Given the description of an element on the screen output the (x, y) to click on. 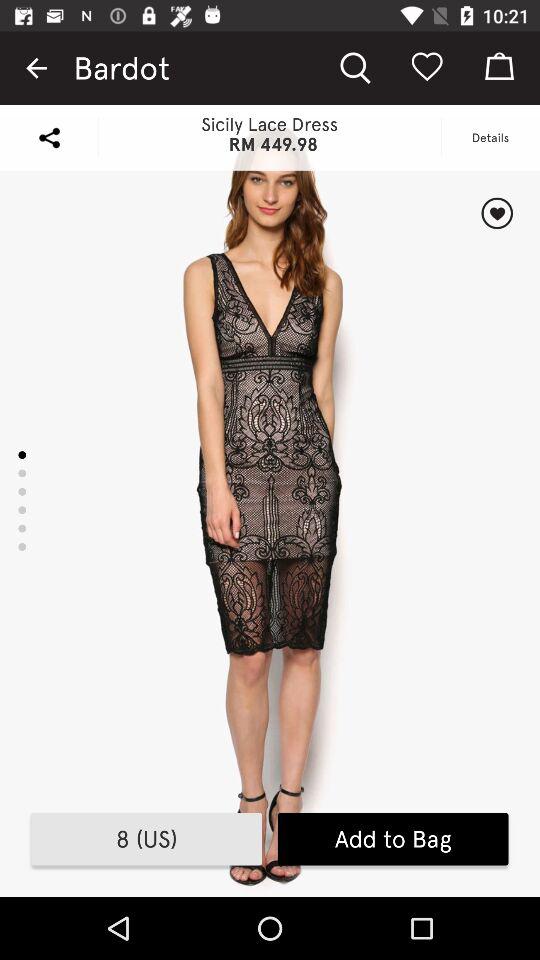
add to favorites (496, 213)
